Given the description of an element on the screen output the (x, y) to click on. 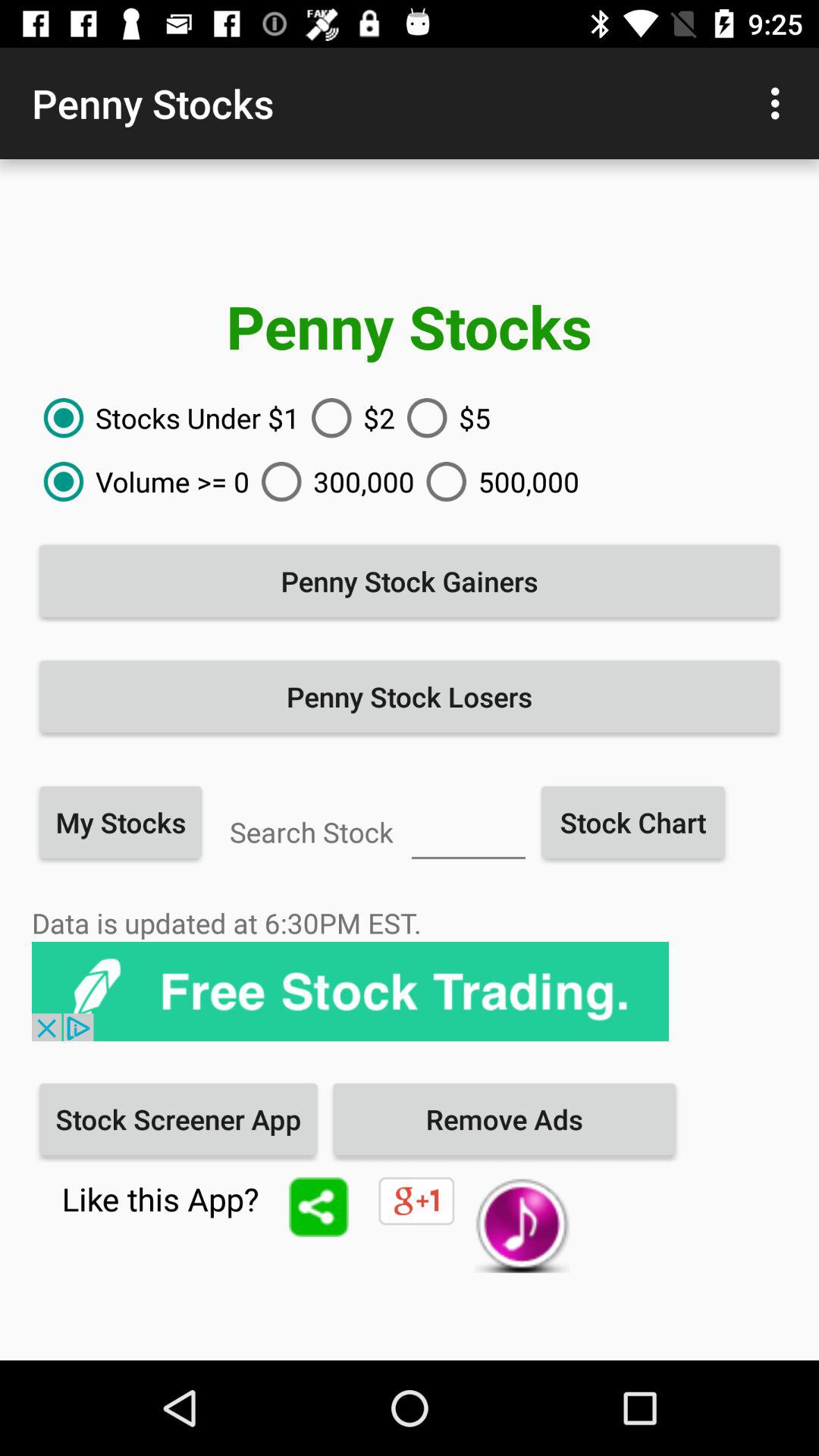
click icon above like this app? (178, 1119)
